Given the description of an element on the screen output the (x, y) to click on. 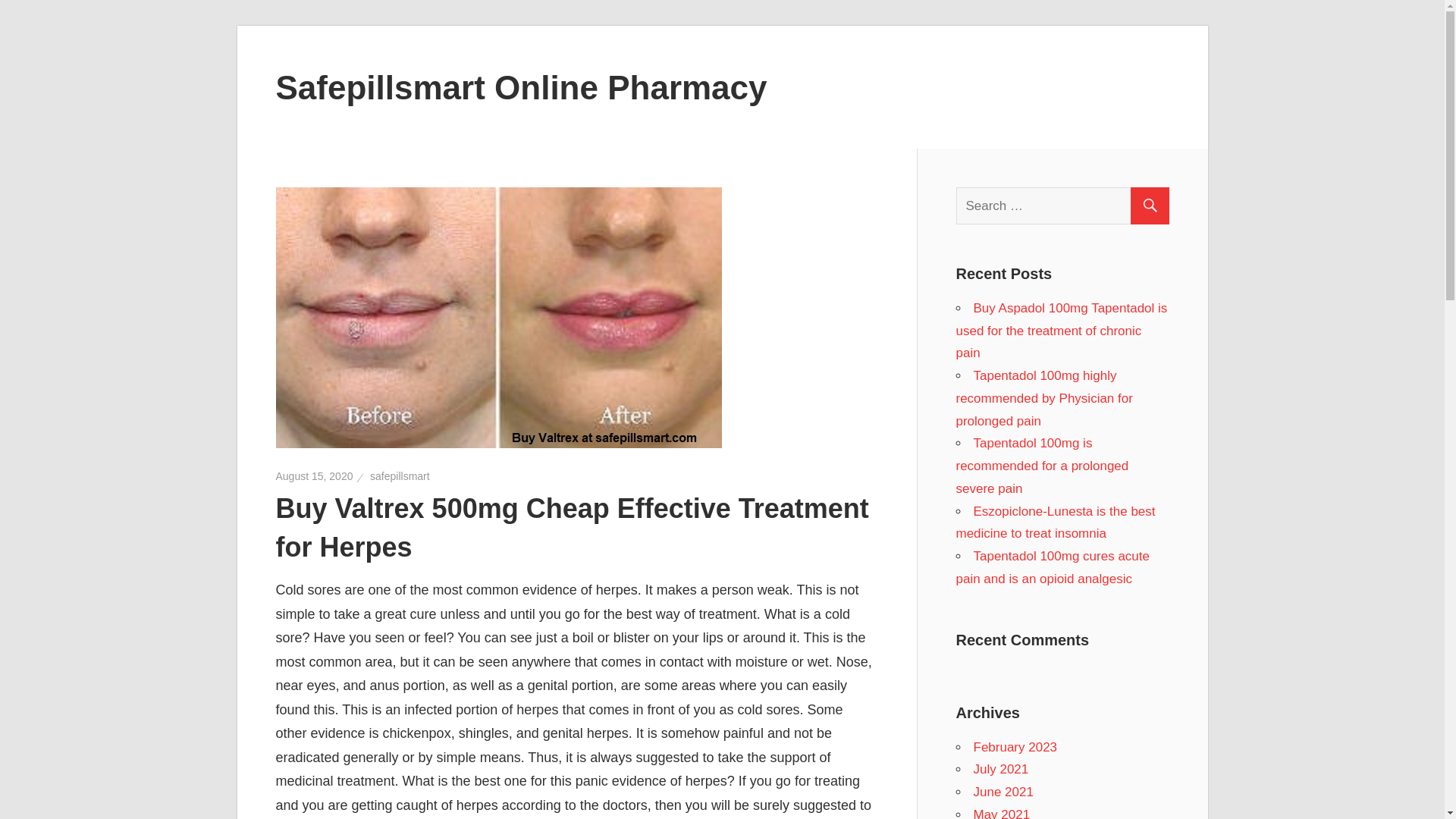
February 2023 (1016, 747)
Tapentadol 100mg cures acute pain and is an opioid analgesic (1052, 567)
Tapentadol 100mg is recommended for a prolonged severe pain (1041, 465)
July 2021 (1001, 769)
June 2021 (1003, 791)
Search for: (1068, 205)
Eszopiclone-Lunesta is the best medicine to treat insomnia (1054, 521)
May 2021 (1002, 813)
Safepillsmart Online Pharmacy (521, 86)
8:06 pm (314, 476)
View all posts by safepillsmart (399, 476)
August 15, 2020 (314, 476)
